Given the description of an element on the screen output the (x, y) to click on. 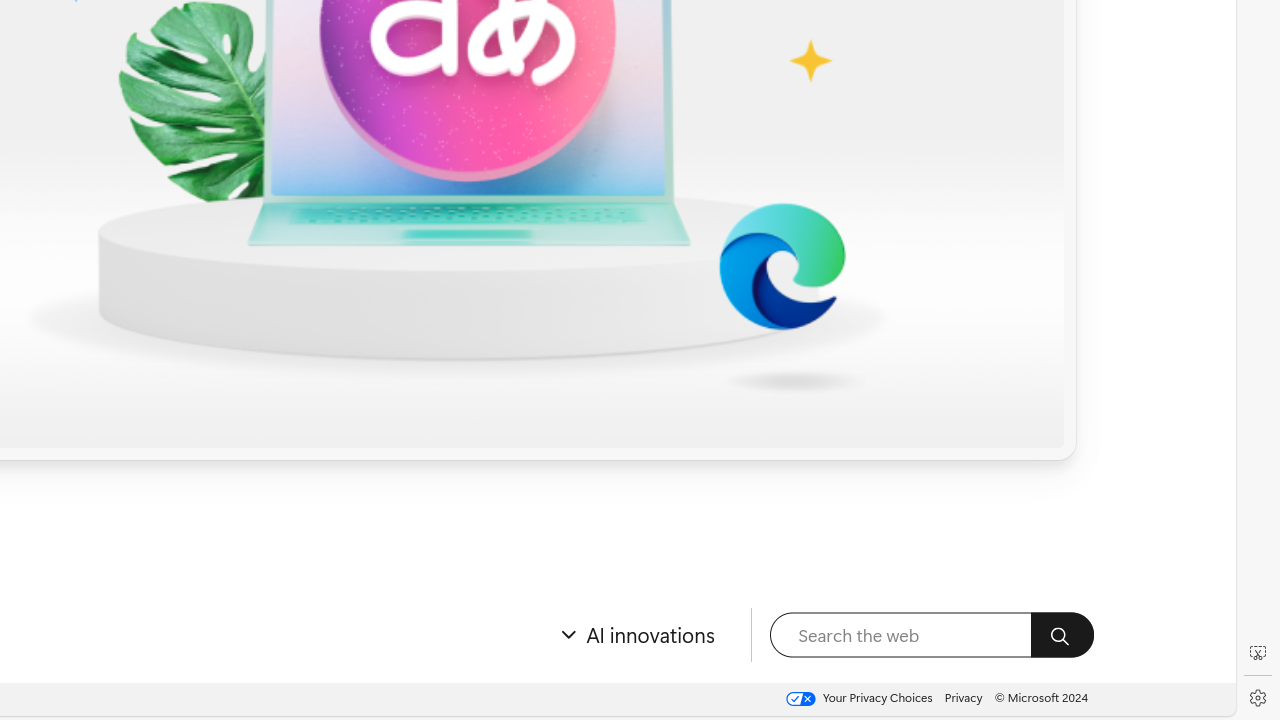
Privacy Element type: link (963, 697)
